Given the description of an element on the screen output the (x, y) to click on. 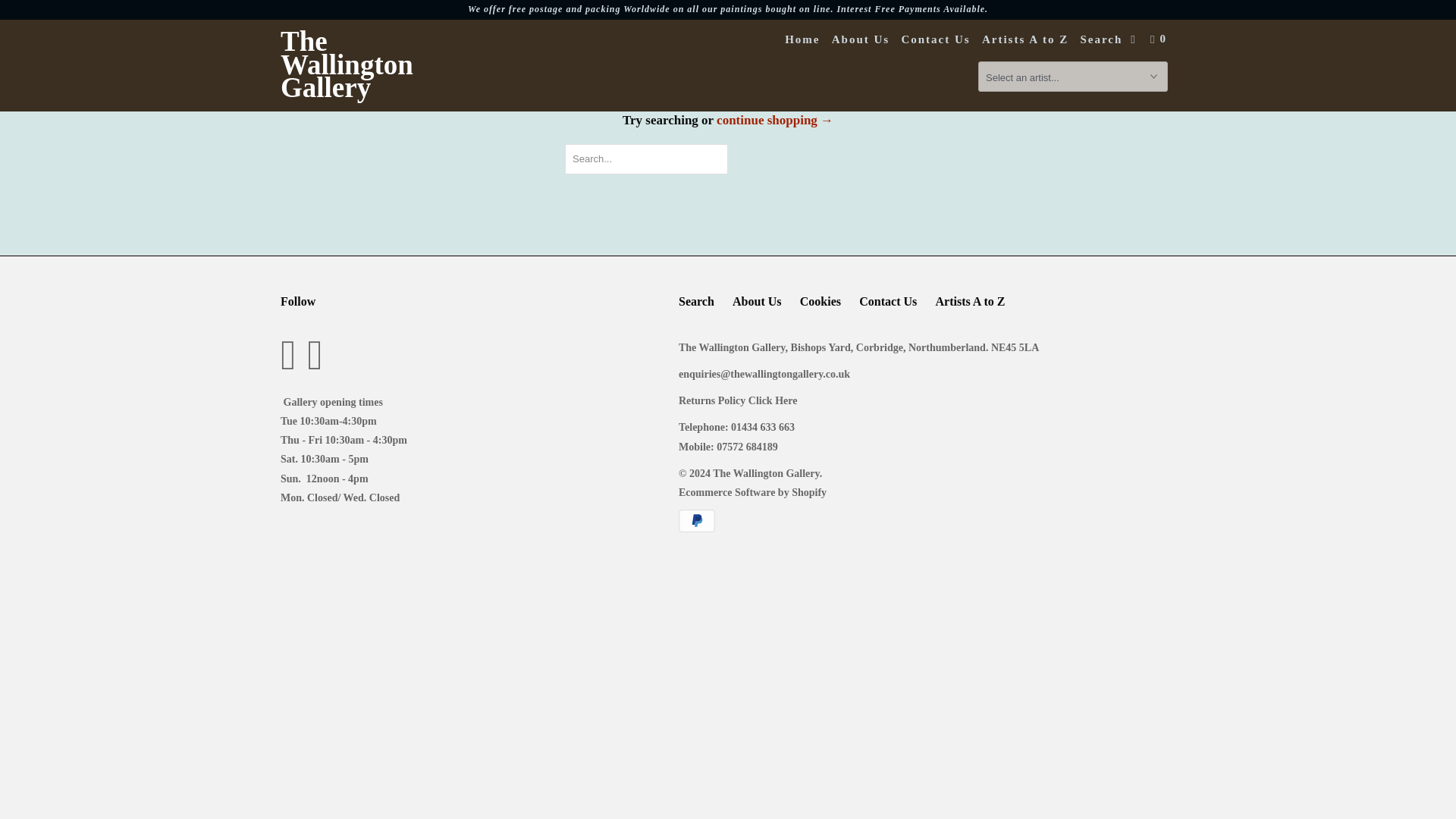
Returns Policy (738, 400)
Artists A to Z (1024, 39)
The Wallington Gallery (766, 473)
Home (801, 39)
The Wallington Gallery (358, 64)
Contact Us (888, 301)
Cookies (820, 301)
The Wallington Gallery (358, 64)
Search (1101, 39)
Search (696, 301)
